Given the description of an element on the screen output the (x, y) to click on. 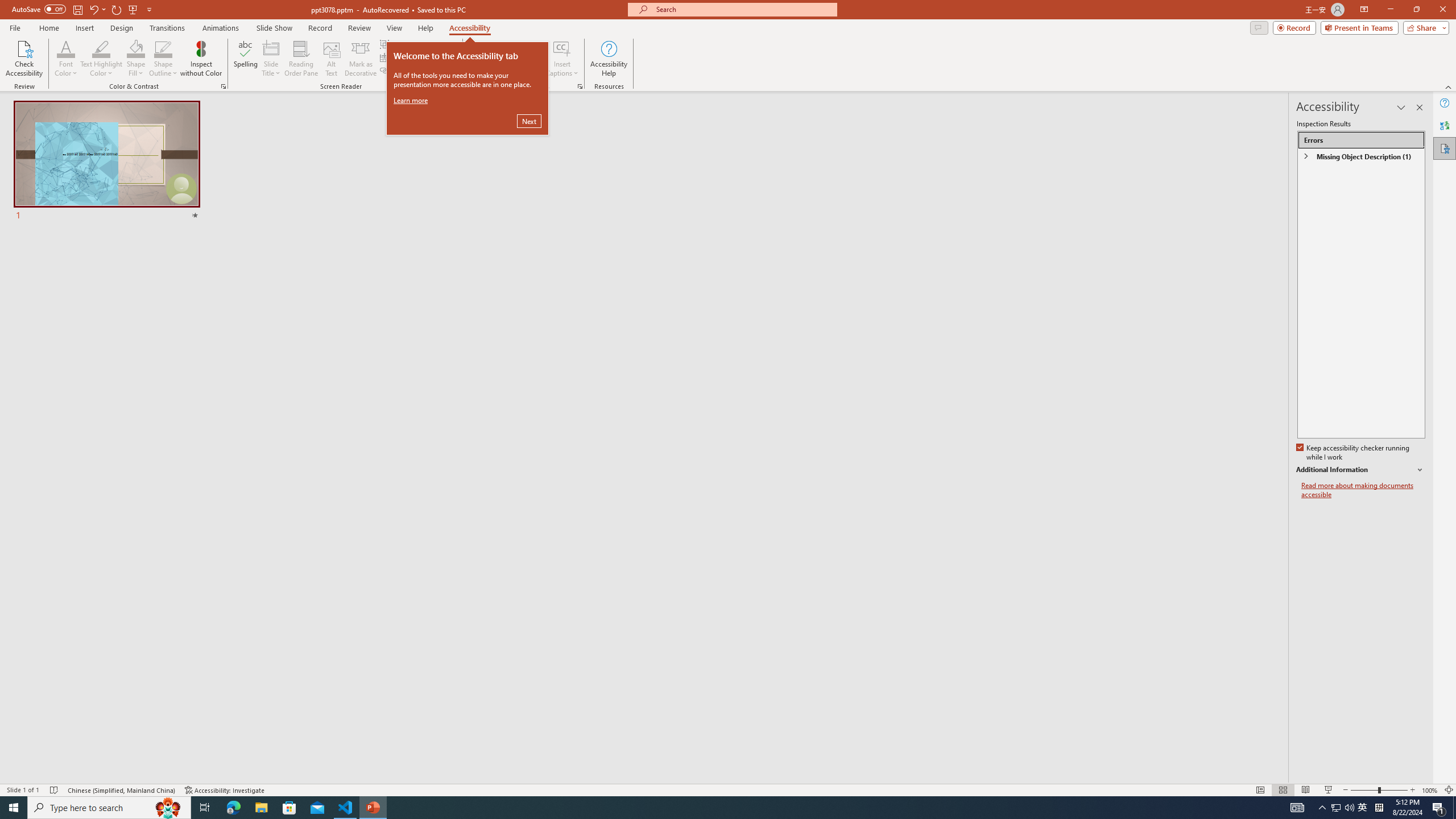
Spelling... (245, 58)
Shape Fill (135, 58)
